Given the description of an element on the screen output the (x, y) to click on. 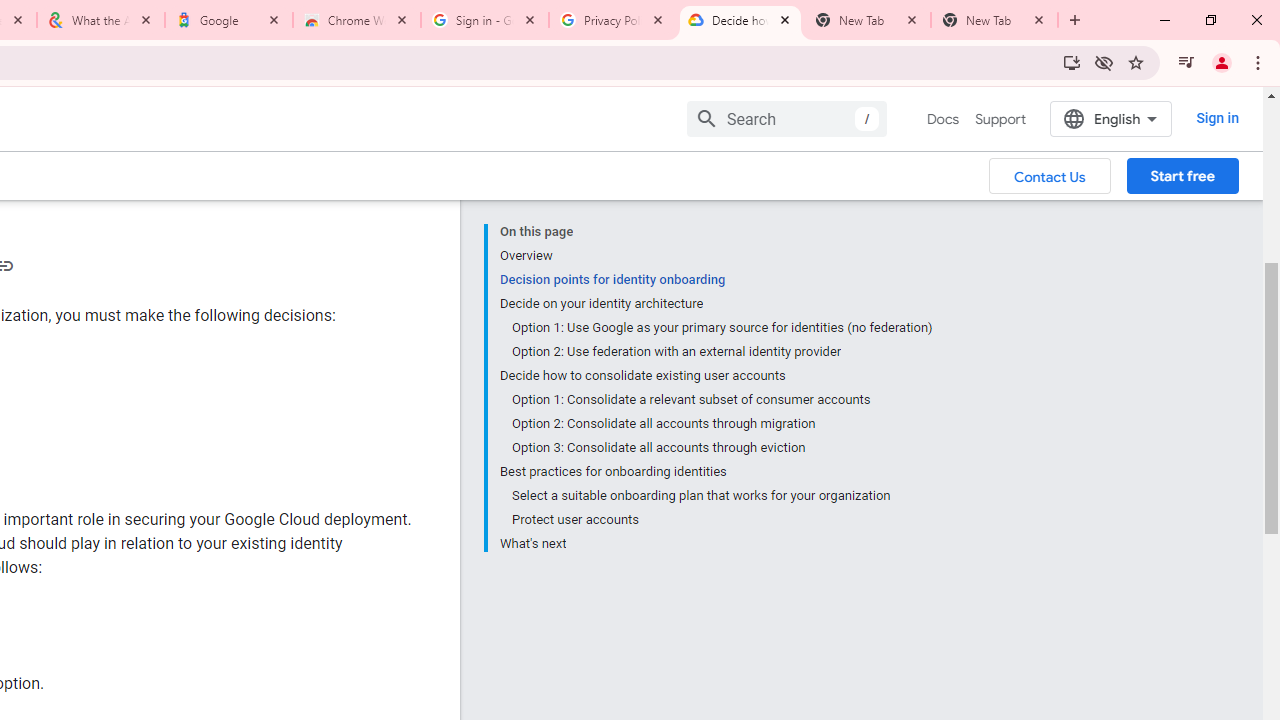
Google (229, 20)
Start free (1182, 175)
Install Google Cloud (1071, 62)
Support (1000, 119)
Control your music, videos, and more (1185, 62)
Contact Us (1050, 175)
Chrome Web Store - Color themes by Chrome (357, 20)
Option 3: Consolidate all accounts through eviction (721, 448)
